Given the description of an element on the screen output the (x, y) to click on. 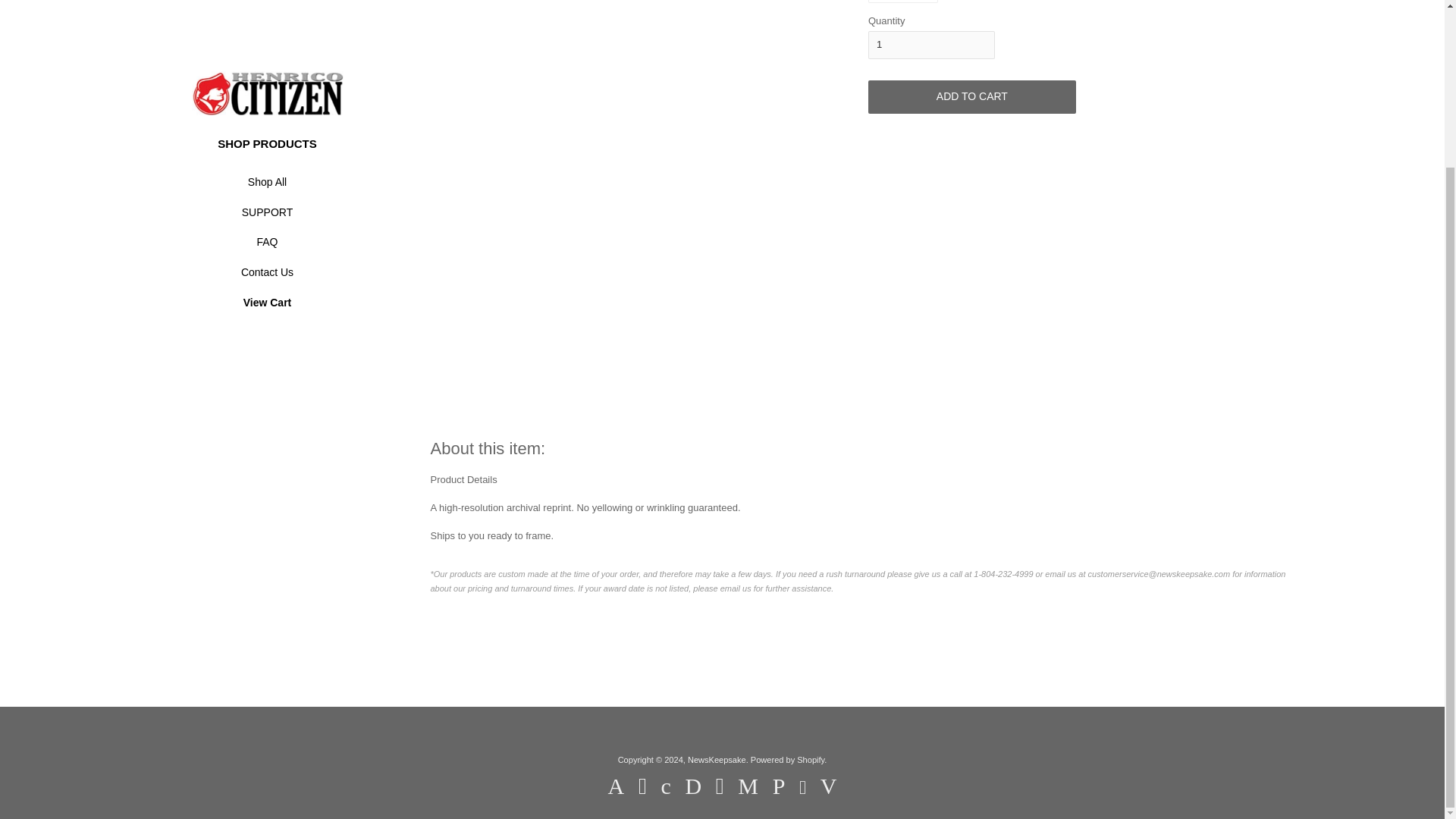
Contact Us (266, 73)
NewsKeepsake (716, 759)
View Cart (266, 103)
ADD TO CART (971, 96)
SUPPORT (266, 14)
1 (930, 44)
FAQ (266, 42)
Powered by Shopify (787, 759)
